Given the description of an element on the screen output the (x, y) to click on. 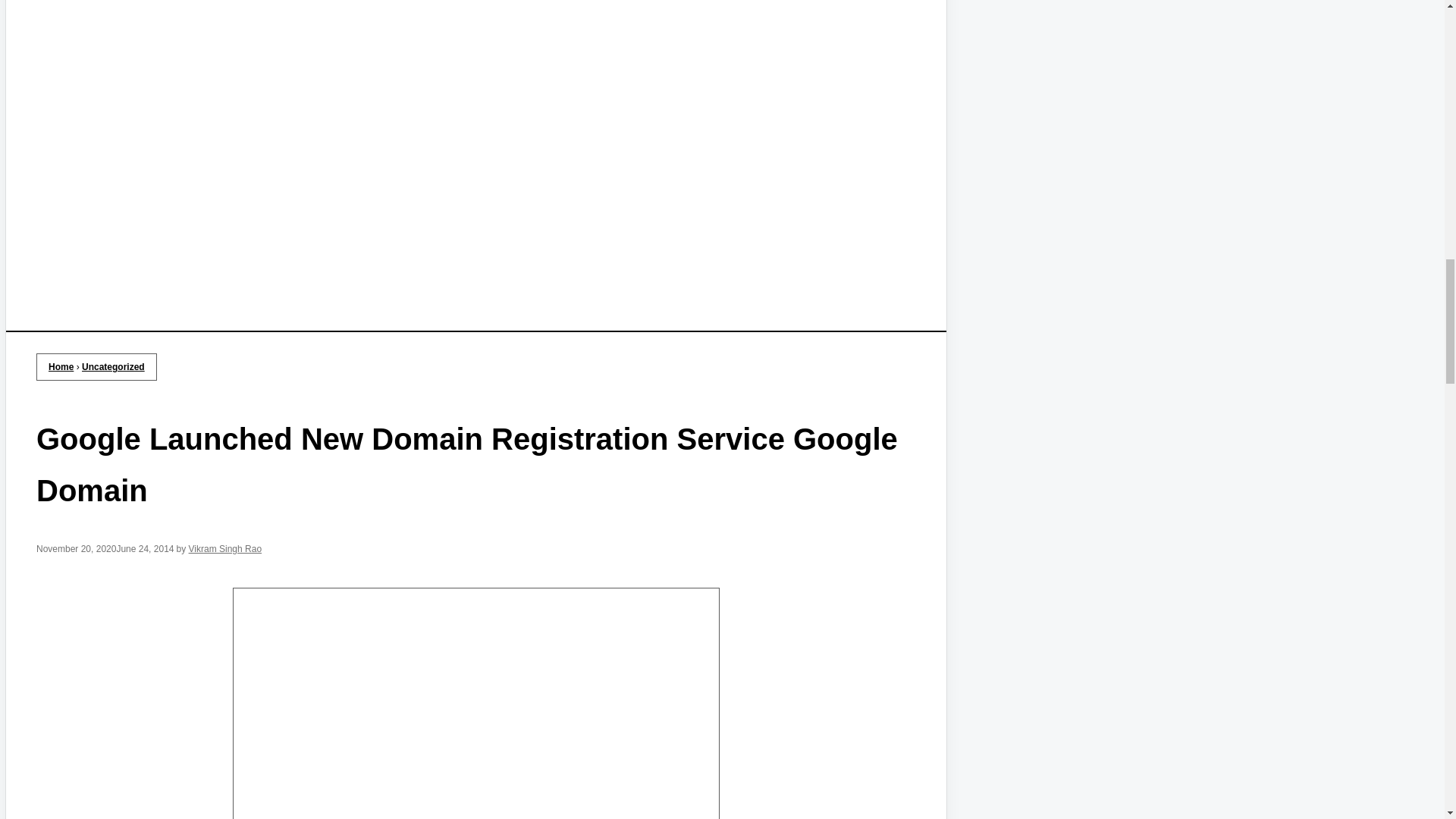
Vikram Singh Rao (225, 548)
View all posts by Vikram Singh Rao (225, 548)
Uncategorized (112, 366)
Home (61, 366)
Google Domains (475, 703)
